Given the description of an element on the screen output the (x, y) to click on. 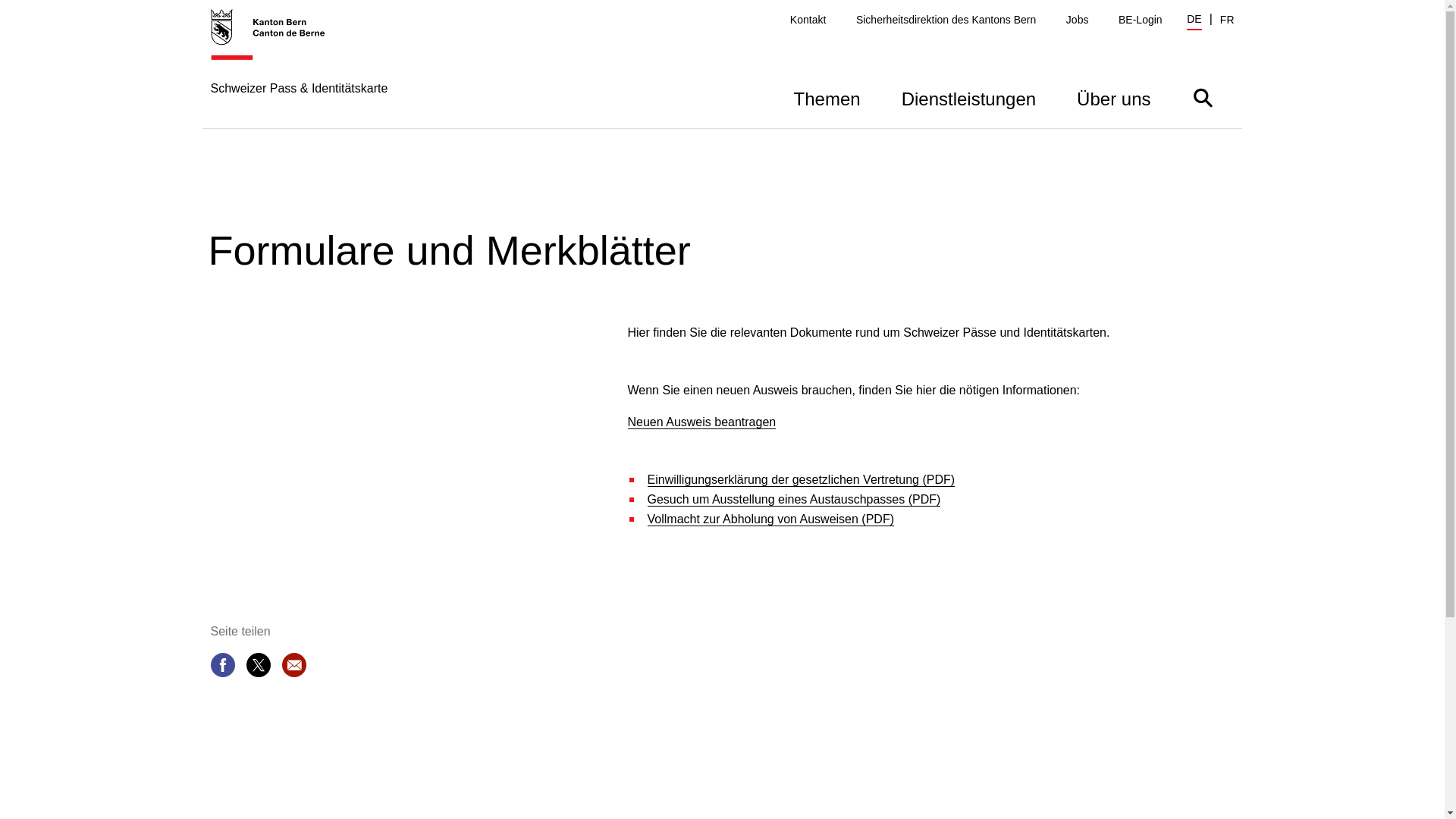
Gesuch um Ausstellung eines Austauschpasses Element type: text (794, 499)
Dienstleistungen Element type: text (968, 96)
DE Element type: text (1193, 21)
Neuen Ausweis beantragen Element type: text (701, 422)
Sicherheitsdirektion des Kantons Bern Element type: text (945, 19)
Suche ein- oder ausblenden Element type: text (1201, 96)
Seite teilen Element type: text (257, 667)
Kontakt Element type: text (807, 19)
FR Element type: text (1227, 19)
Seite teilen Element type: text (222, 667)
BE-Login Element type: text (1140, 19)
Themen Element type: text (827, 96)
Vollmacht zur Abholung von Ausweisen Element type: text (770, 519)
Jobs Element type: text (1077, 19)
